Given the description of an element on the screen output the (x, y) to click on. 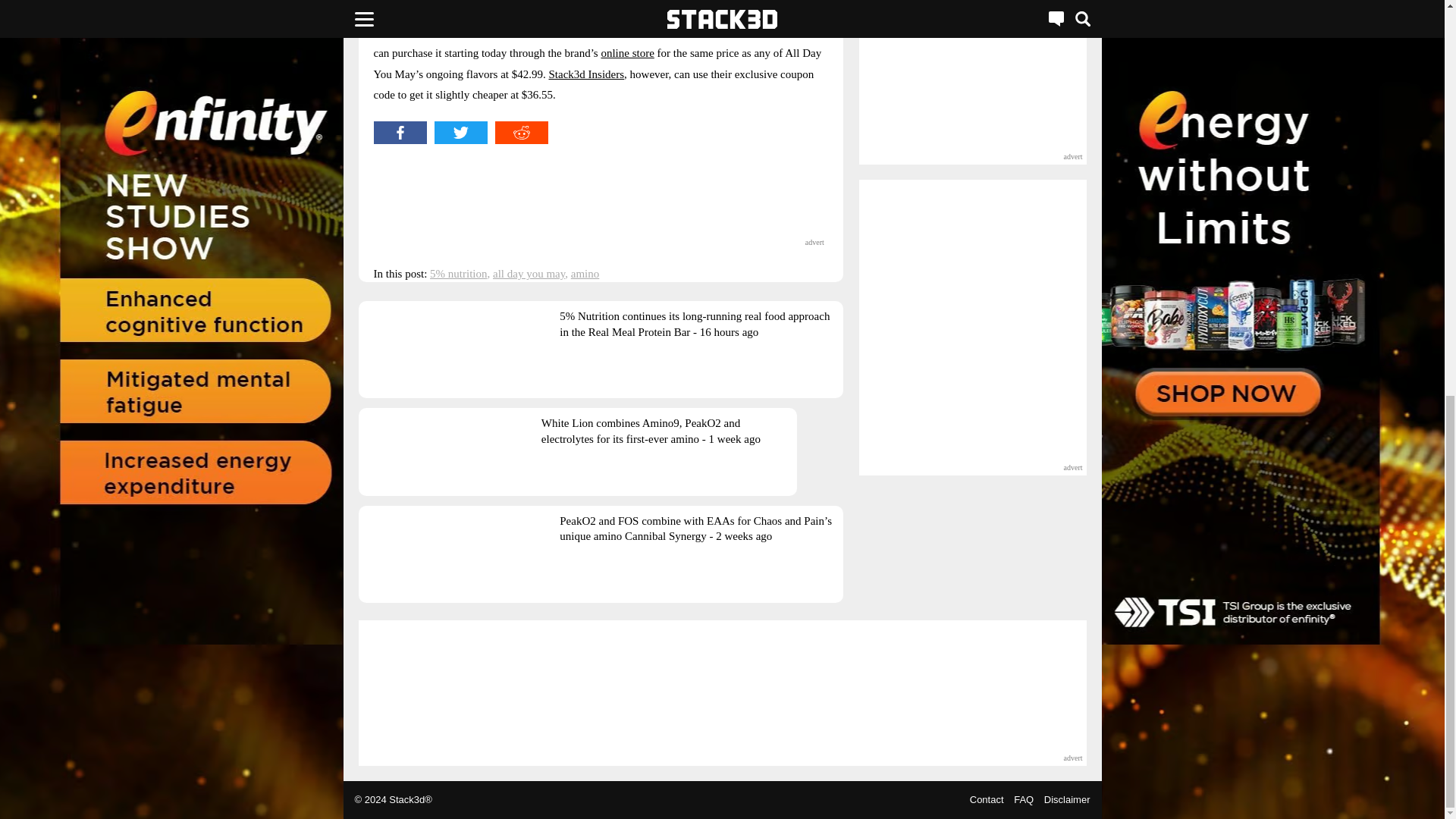
Stack3d Insiders (586, 73)
online store (626, 52)
